Given the description of an element on the screen output the (x, y) to click on. 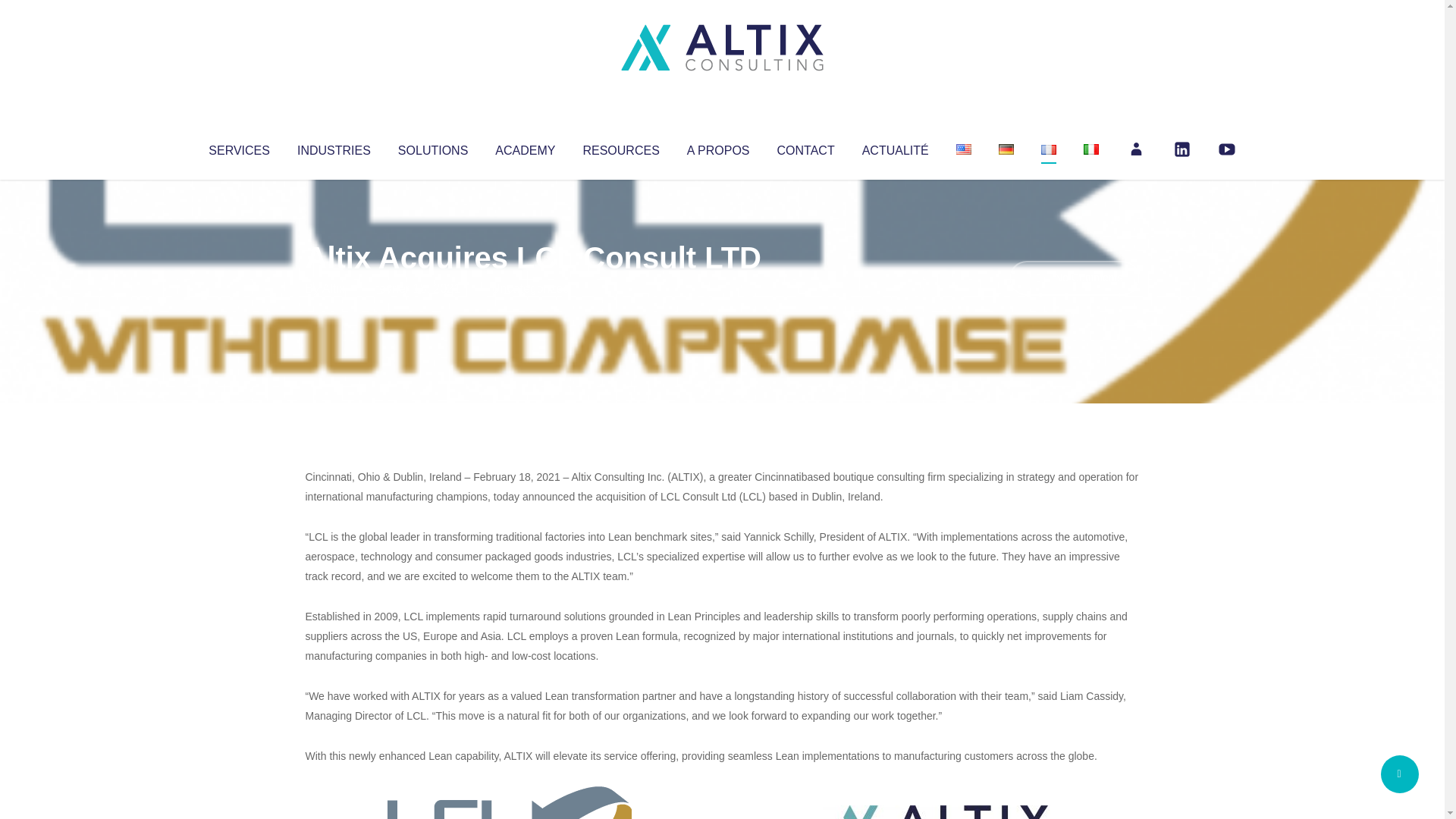
No Comments (1073, 278)
ACADEMY (524, 146)
Articles par Altix (333, 287)
SOLUTIONS (432, 146)
RESOURCES (620, 146)
Altix (333, 287)
INDUSTRIES (334, 146)
A PROPOS (718, 146)
Uncategorized (530, 287)
SERVICES (238, 146)
